Given the description of an element on the screen output the (x, y) to click on. 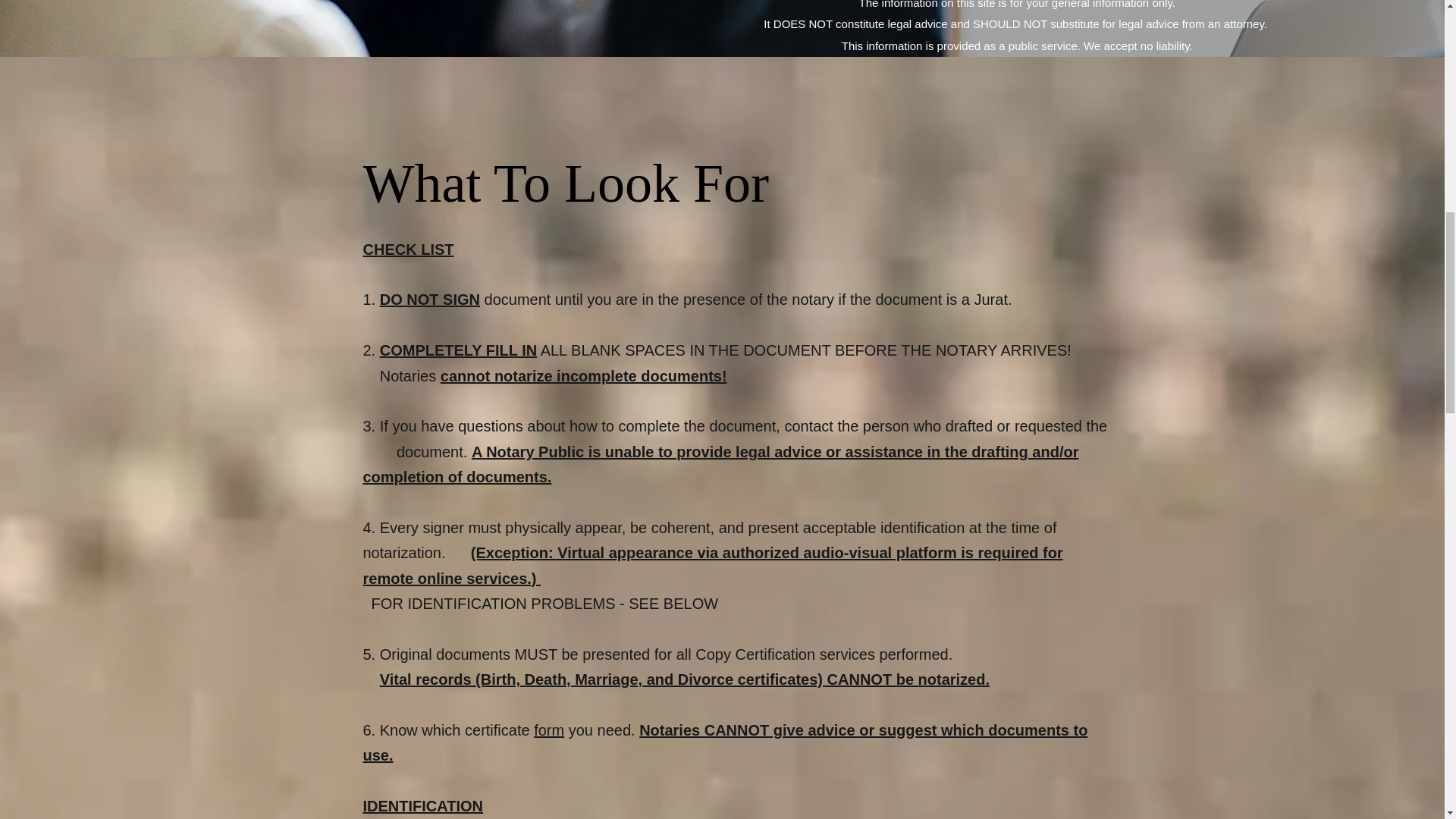
form (549, 729)
